Given the description of an element on the screen output the (x, y) to click on. 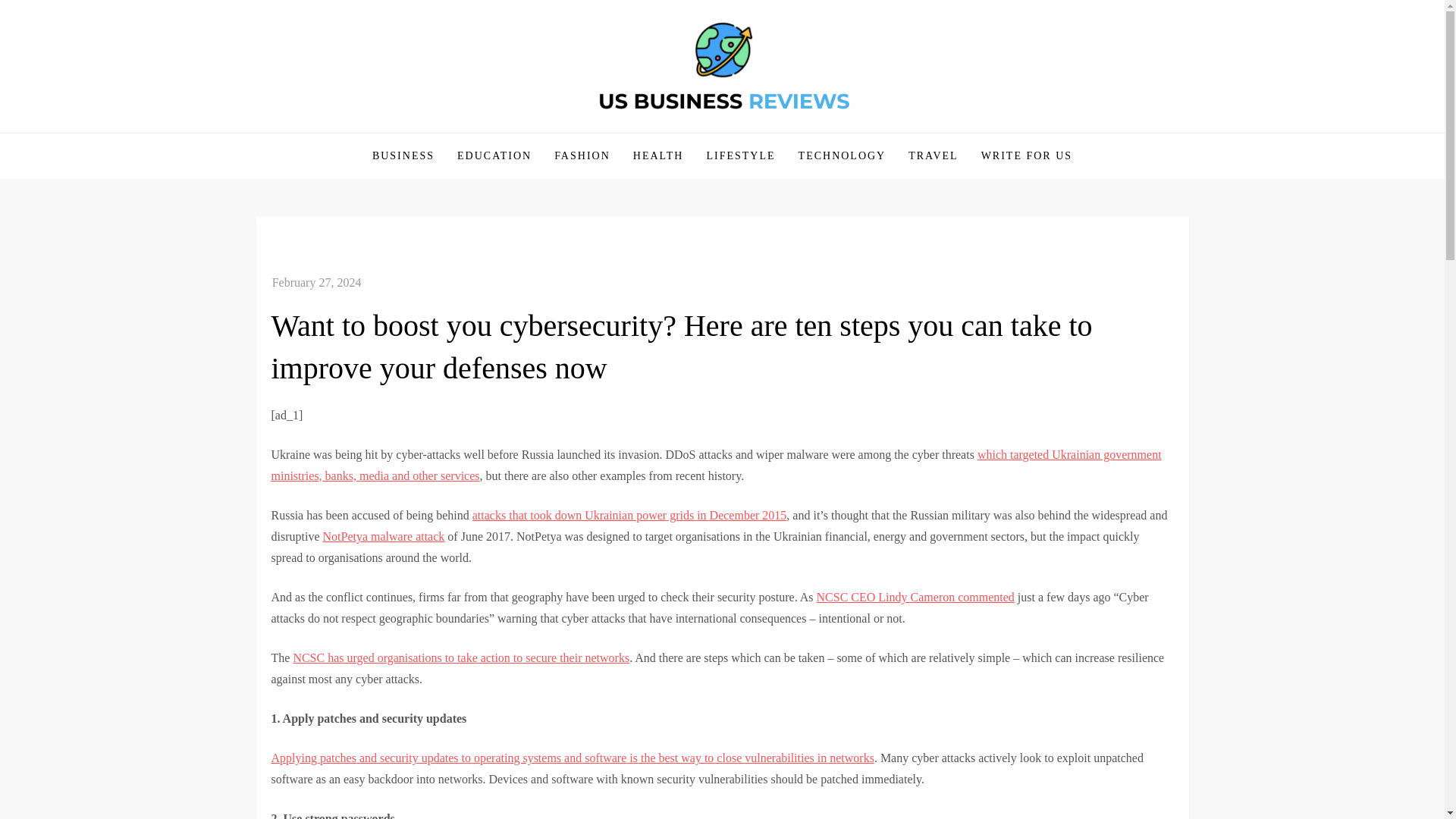
TRAVEL (932, 156)
HEALTH (658, 156)
EDUCATION (494, 156)
BUSINESS (403, 156)
NotPetya malware attack (384, 535)
WRITE FOR US (1026, 156)
took down Ukrainian power grids in December 2015 (657, 514)
February 27, 2024 (316, 282)
TECHNOLOGY (842, 156)
